Given the description of an element on the screen output the (x, y) to click on. 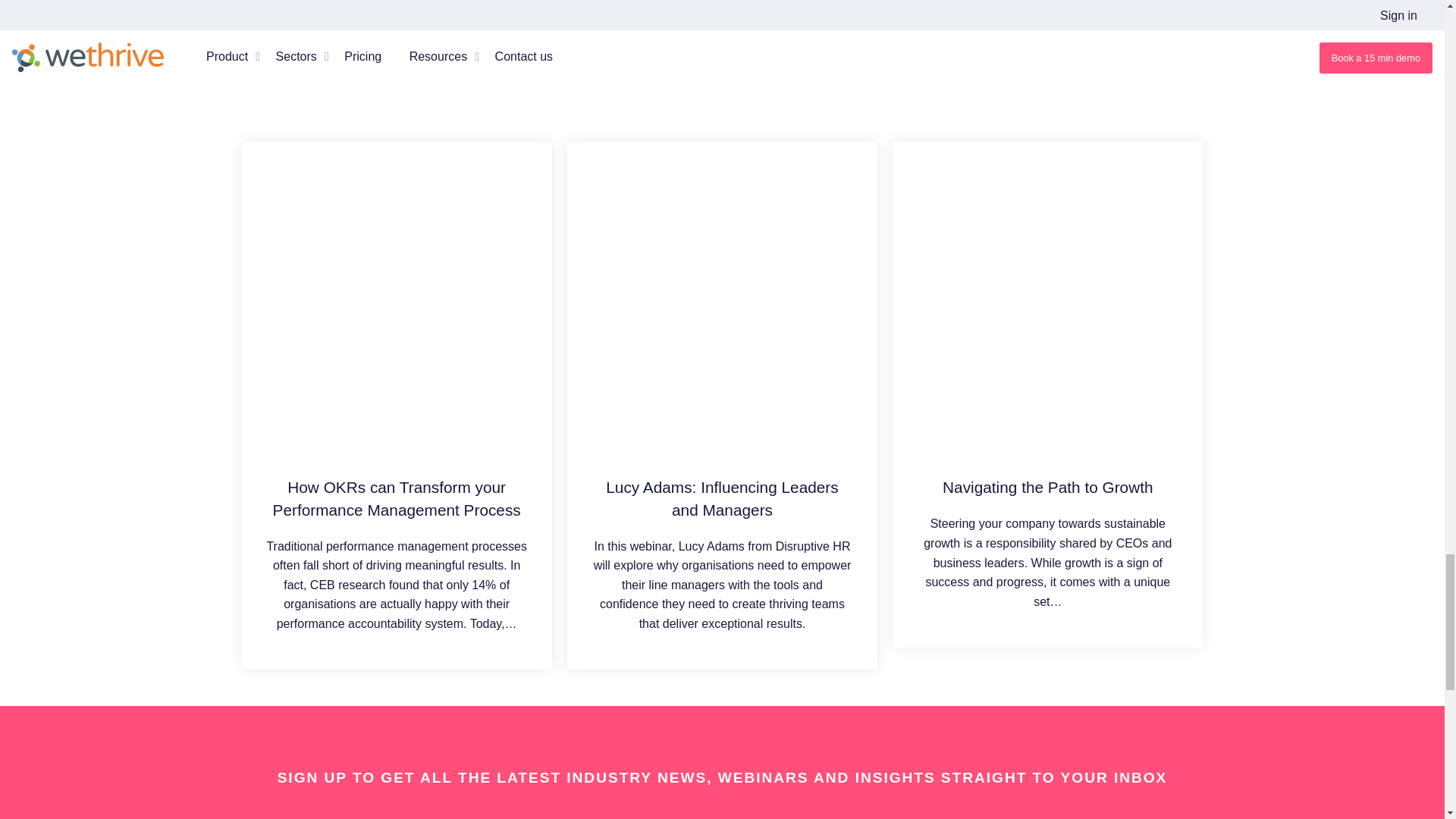
newsletter sign up wethrive (721, 810)
